Given the description of an element on the screen output the (x, y) to click on. 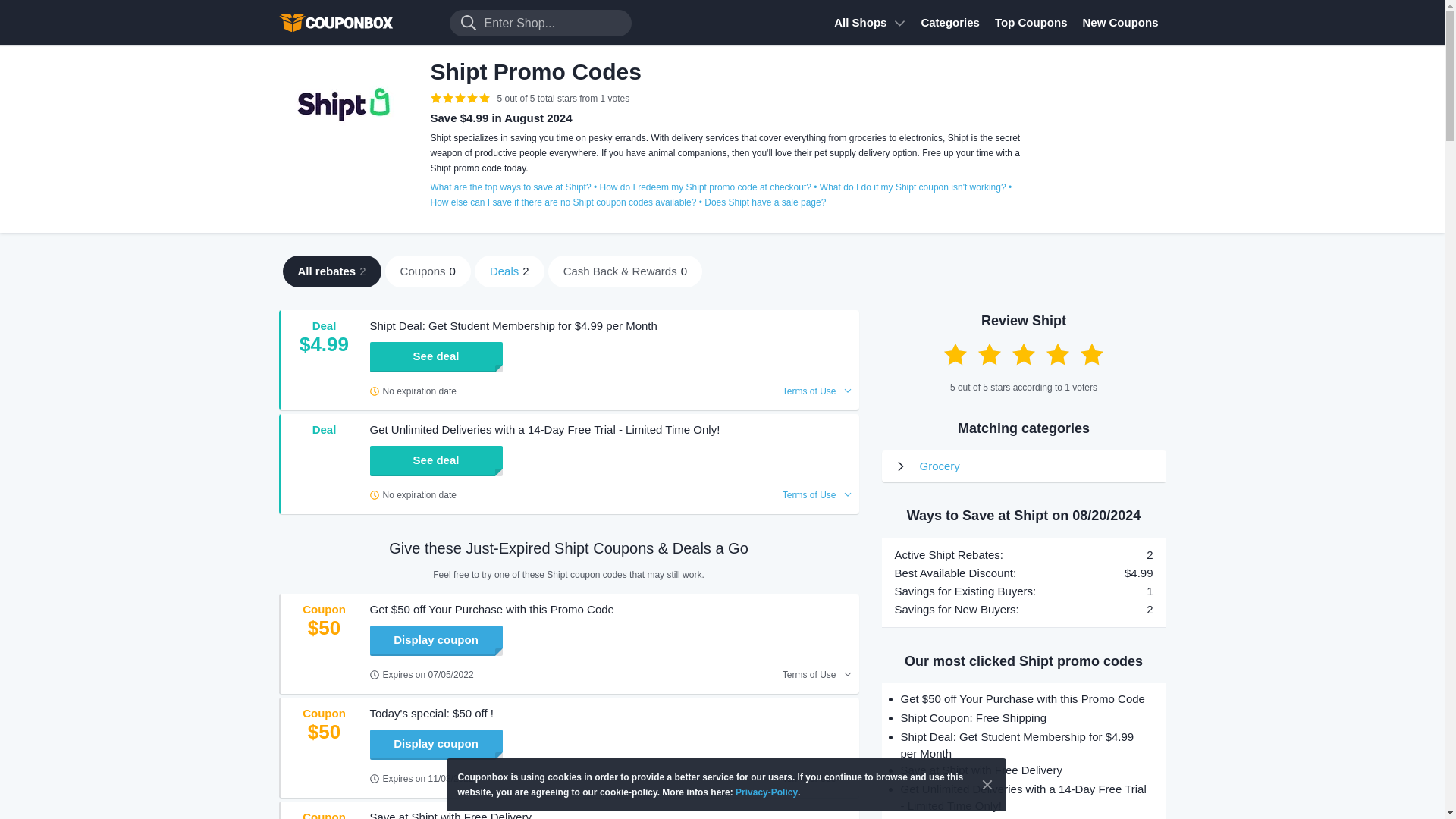
Categories (949, 22)
Privacy-Policy (766, 792)
What are the top ways to save at Shipt? (510, 187)
To the homepage of Couponbox (354, 22)
New Coupons (1120, 22)
All Shops (869, 22)
Top Coupons (1031, 22)
